Given the description of an element on the screen output the (x, y) to click on. 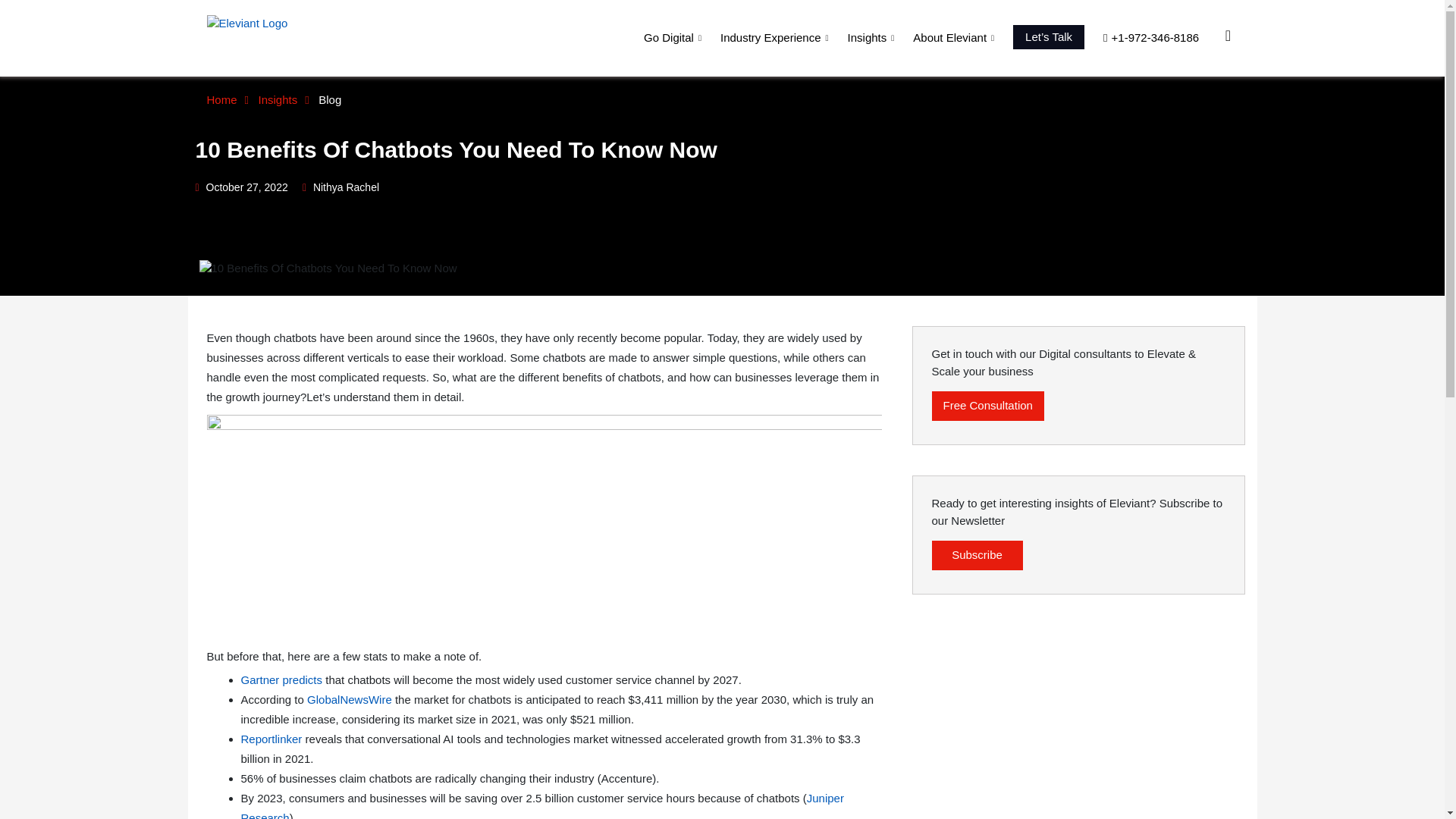
About Eleviant (955, 37)
Insights (872, 37)
Go Digital (674, 37)
Industry Experience (776, 37)
